Given the description of an element on the screen output the (x, y) to click on. 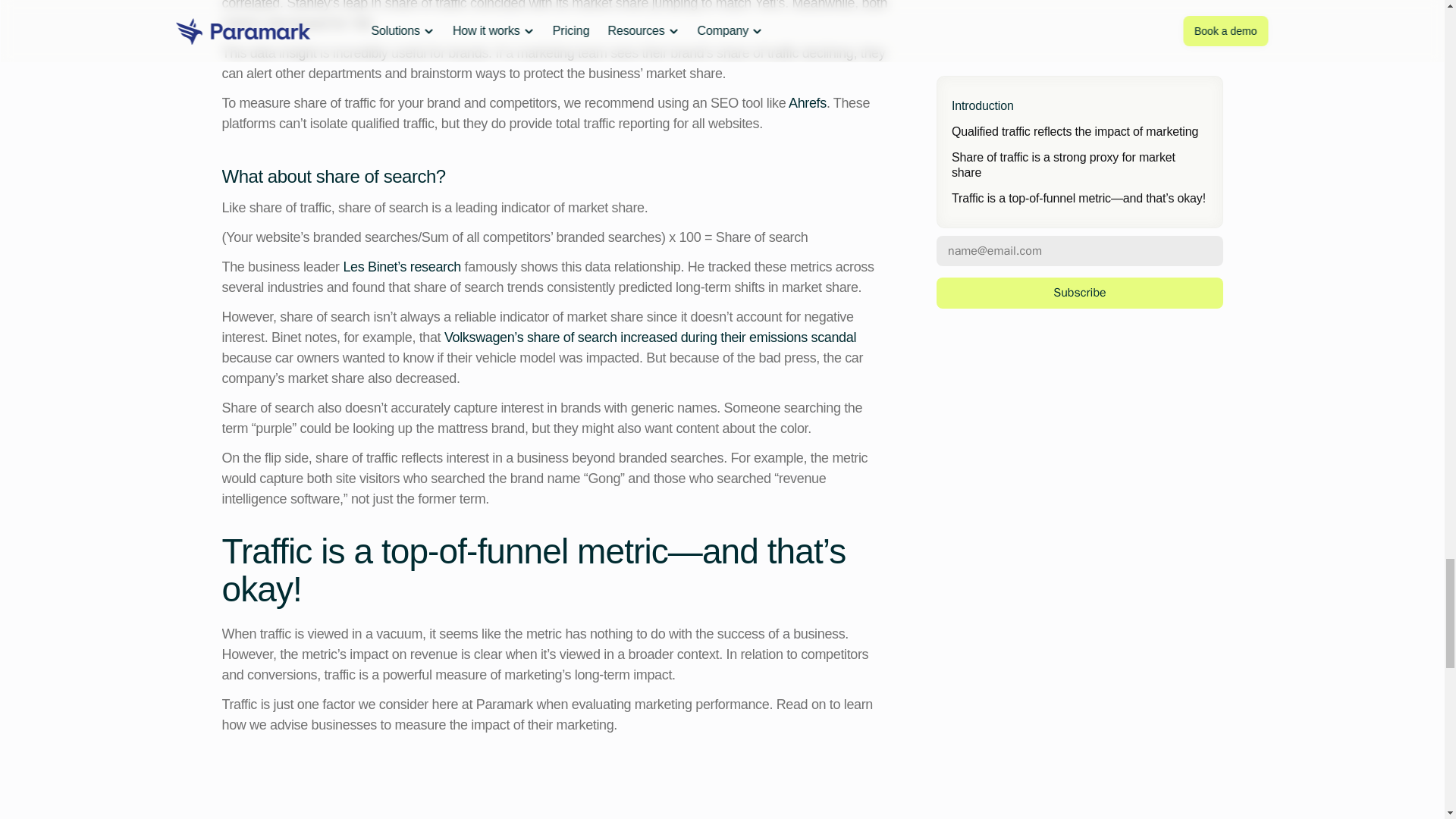
Ahrefs (808, 102)
